Given the description of an element on the screen output the (x, y) to click on. 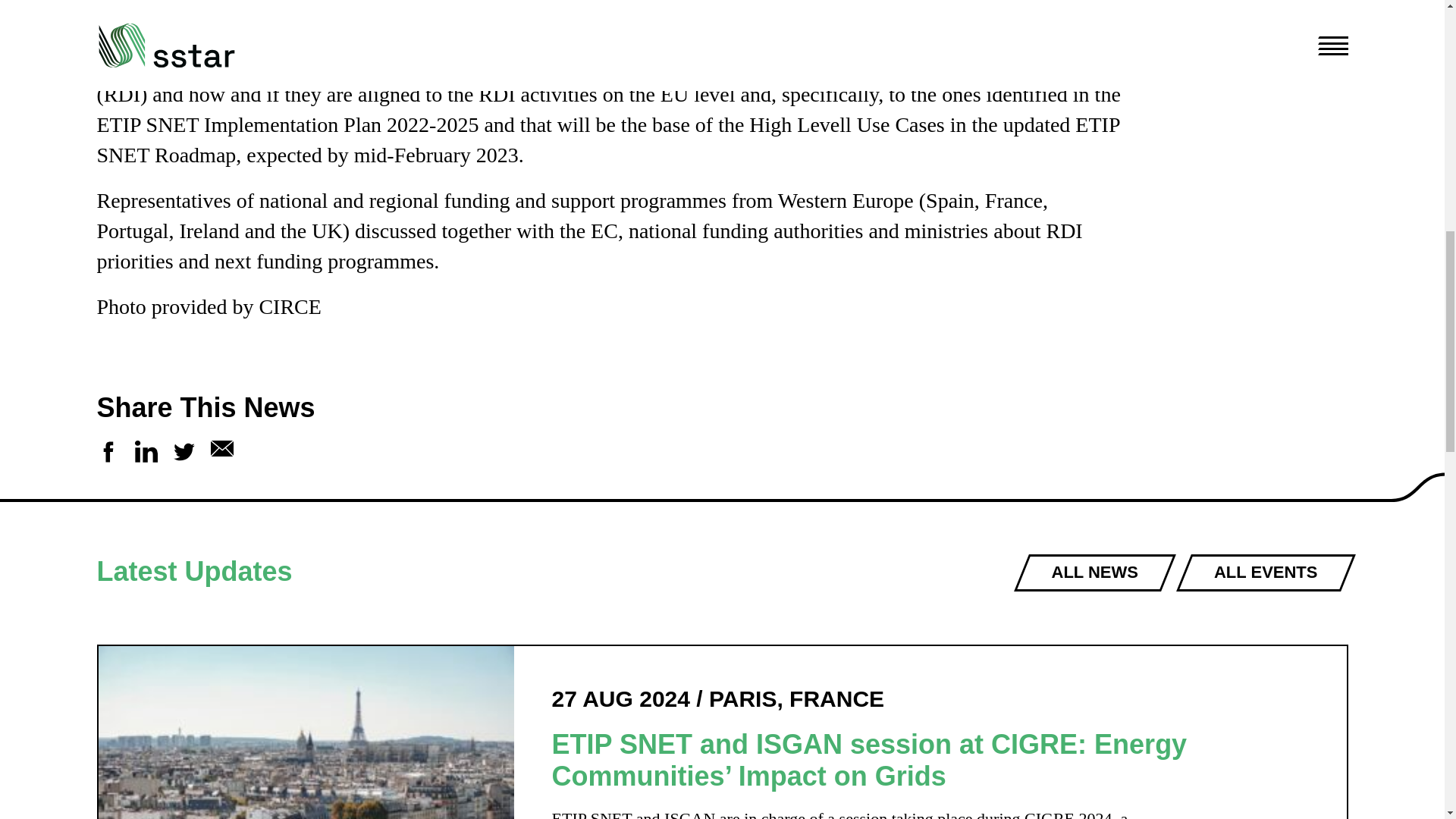
All Events (1265, 572)
ALL EVENTS (1265, 572)
mail (221, 451)
All News (1093, 572)
ALL NEWS (1093, 572)
mail (221, 448)
